Given the description of an element on the screen output the (x, y) to click on. 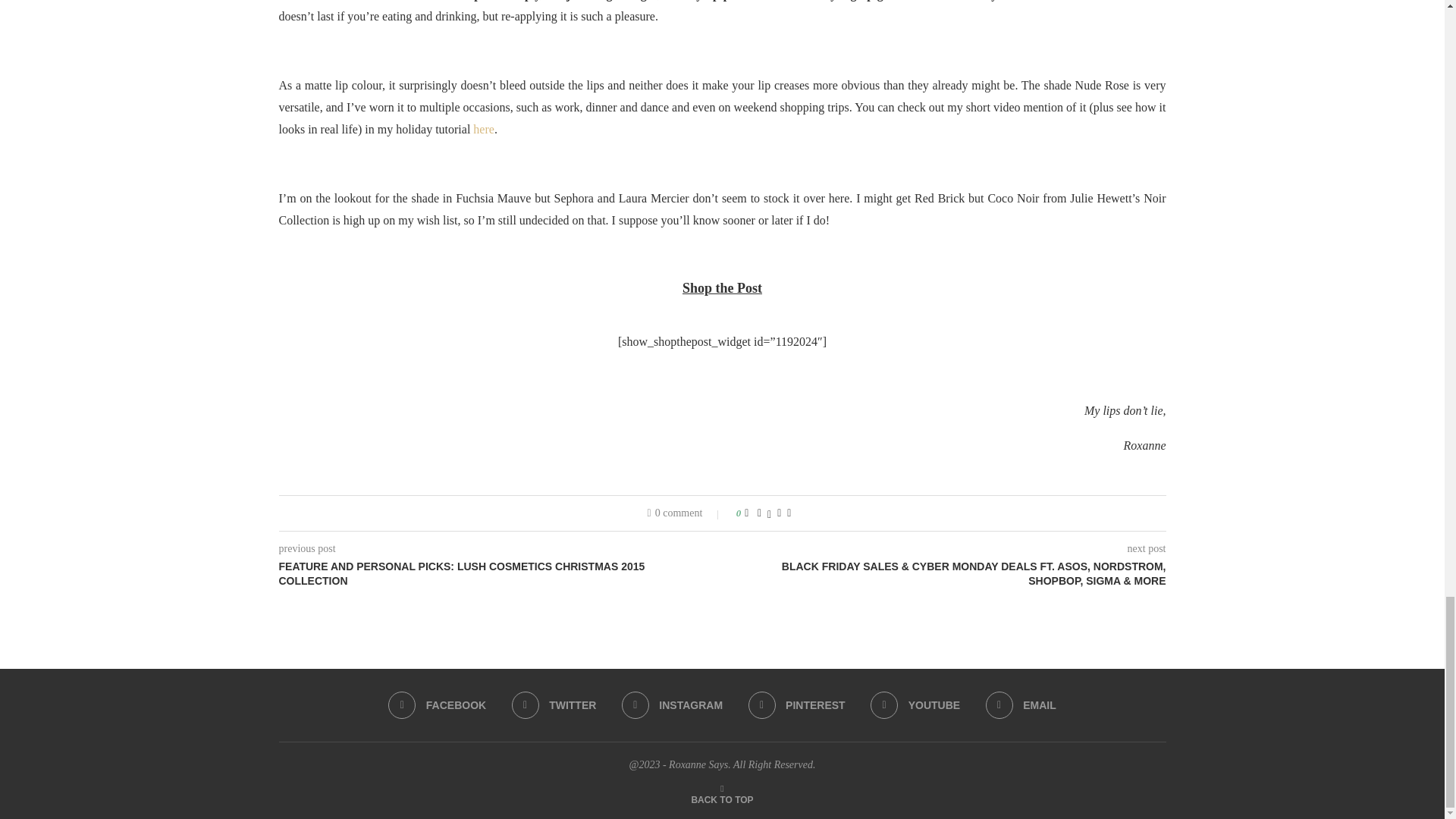
EMAIL (1021, 705)
BACK TO TOP (721, 799)
YOUTUBE (914, 705)
here (484, 128)
FACEBOOK (437, 705)
TWITTER (554, 705)
PINTEREST (796, 705)
INSTAGRAM (671, 705)
